Given the description of an element on the screen output the (x, y) to click on. 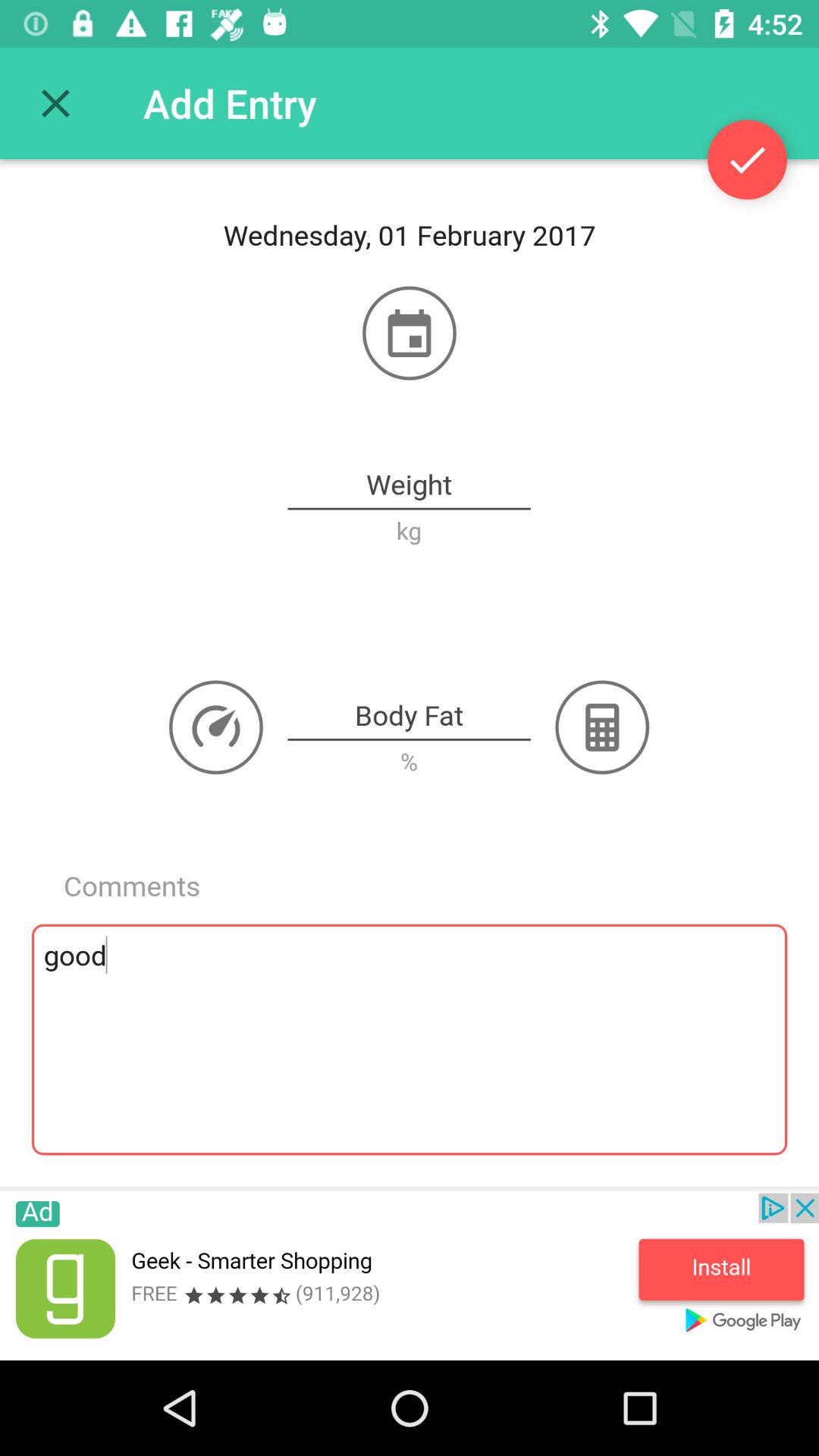
show the calendar (409, 333)
